Given the description of an element on the screen output the (x, y) to click on. 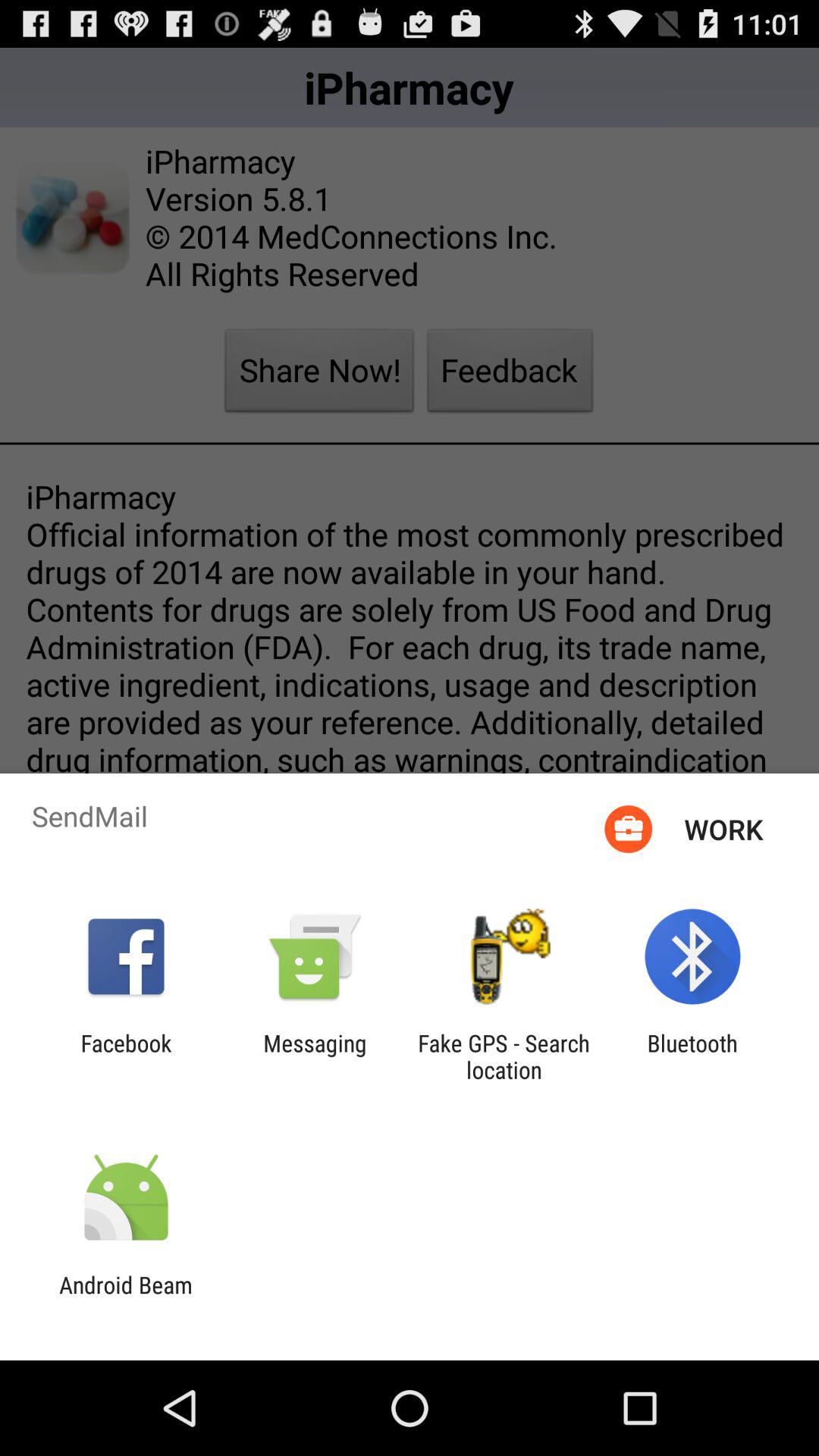
choose app next to messaging app (125, 1056)
